Given the description of an element on the screen output the (x, y) to click on. 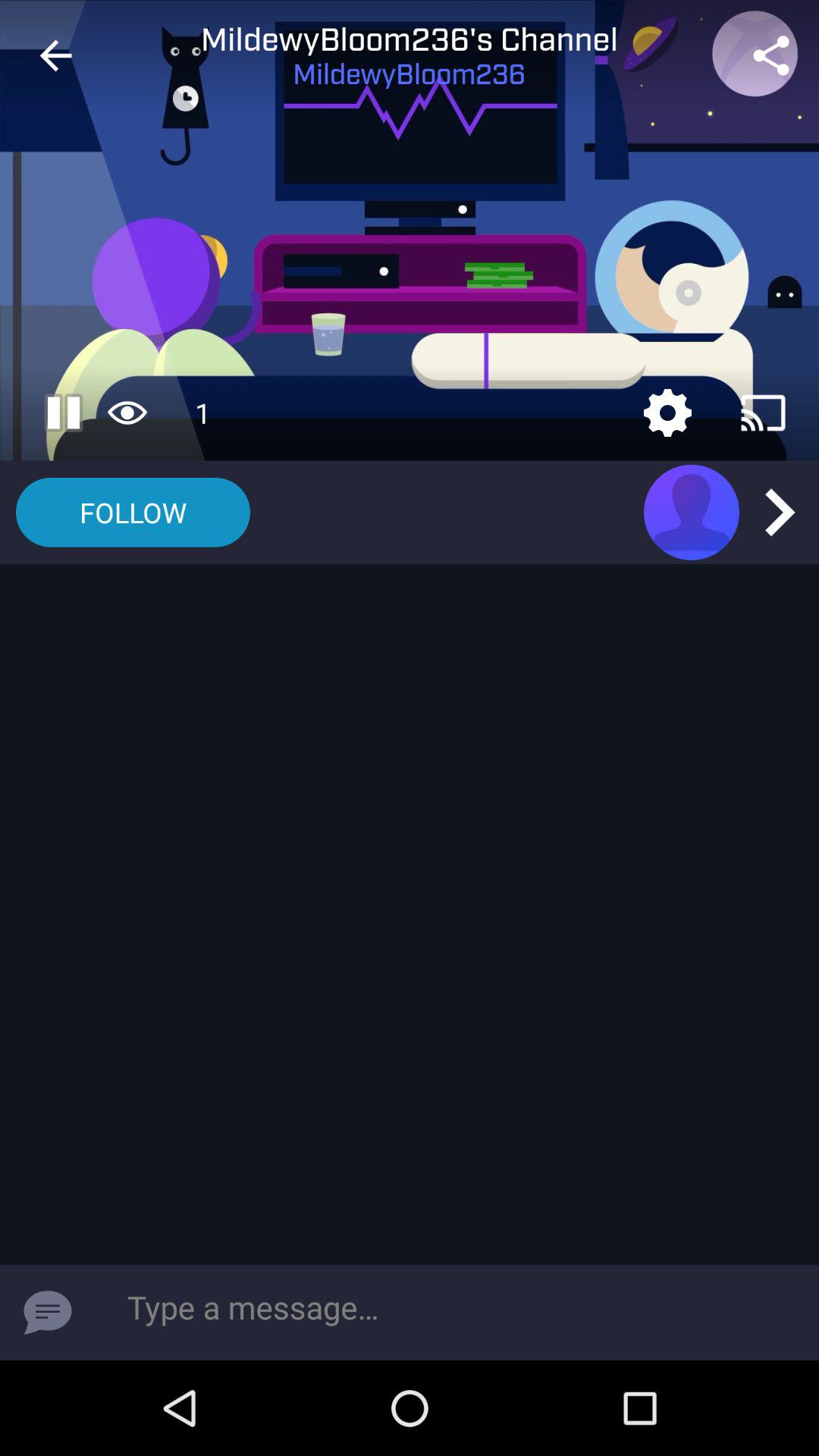
choose item to the right of mildewybloom236's channel icon (771, 55)
